Given the description of an element on the screen output the (x, y) to click on. 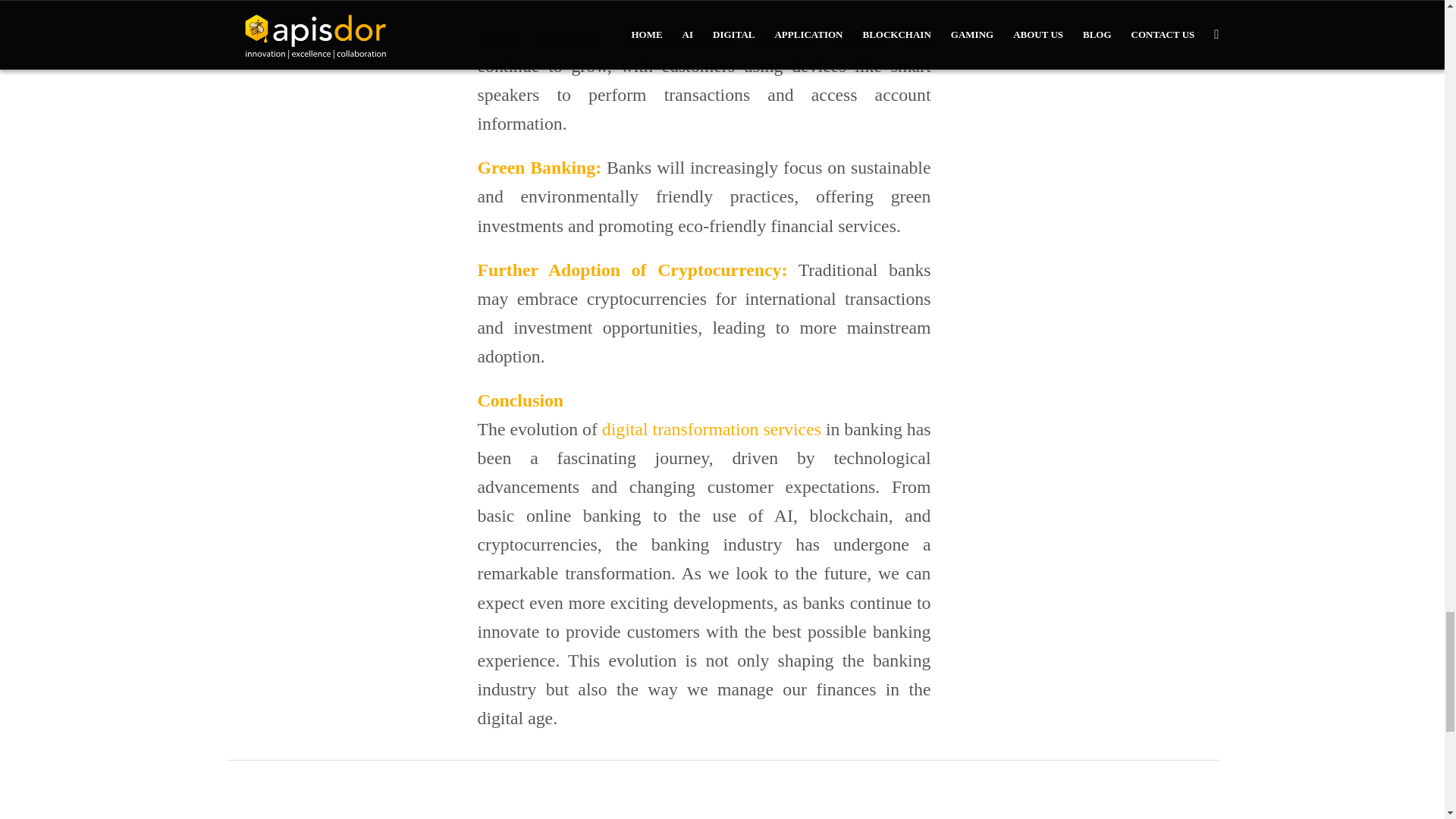
digital transformation services (711, 428)
